Given the description of an element on the screen output the (x, y) to click on. 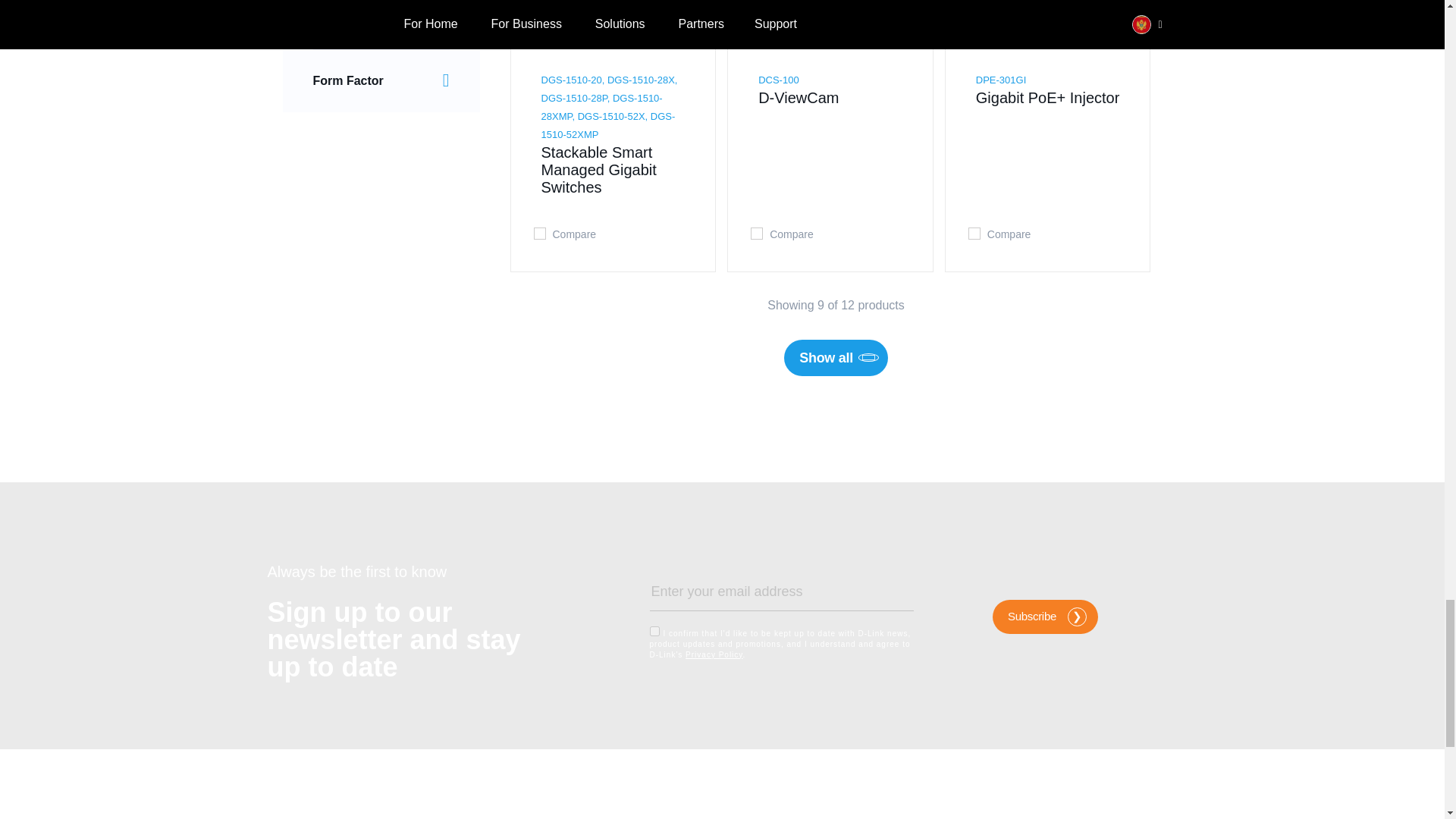
True (654, 631)
